Given the description of an element on the screen output the (x, y) to click on. 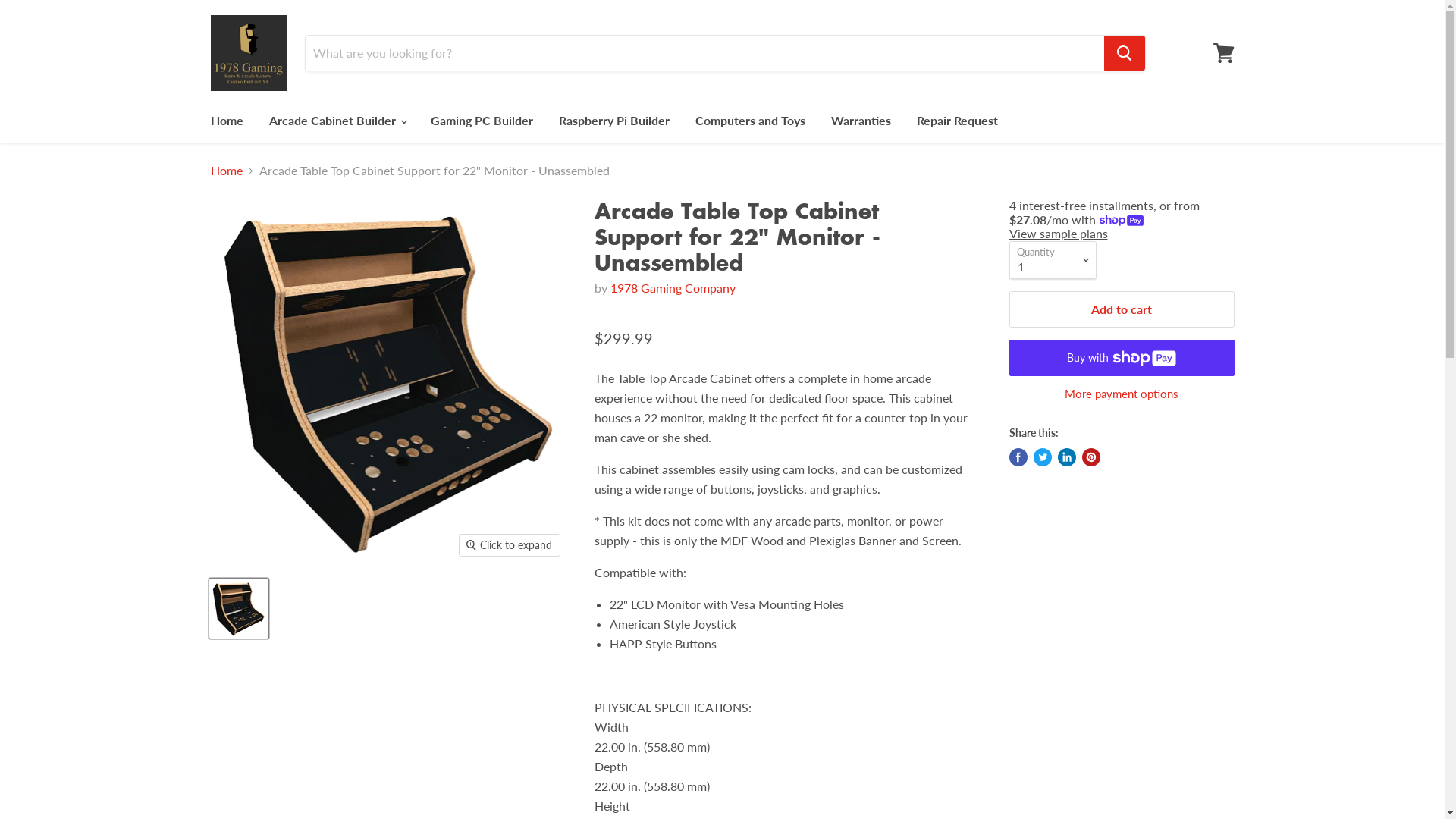
Add to cart Element type: text (1120, 309)
Share on LinkedIn Element type: text (1066, 457)
More payment options Element type: text (1120, 393)
Repair Request Element type: text (957, 120)
Pin on Pinterest Element type: text (1090, 457)
Share on Facebook Element type: text (1017, 457)
Gaming PC Builder Element type: text (480, 120)
Tweet on Twitter Element type: text (1041, 457)
Home Element type: text (226, 120)
Warranties Element type: text (860, 120)
Arcade Cabinet Builder Element type: text (336, 120)
View cart Element type: text (1223, 52)
Click to expand Element type: text (509, 544)
1978 Gaming Company Element type: text (672, 287)
Raspberry Pi Builder Element type: text (613, 120)
Home Element type: text (226, 170)
Computers and Toys Element type: text (750, 120)
